Given the description of an element on the screen output the (x, y) to click on. 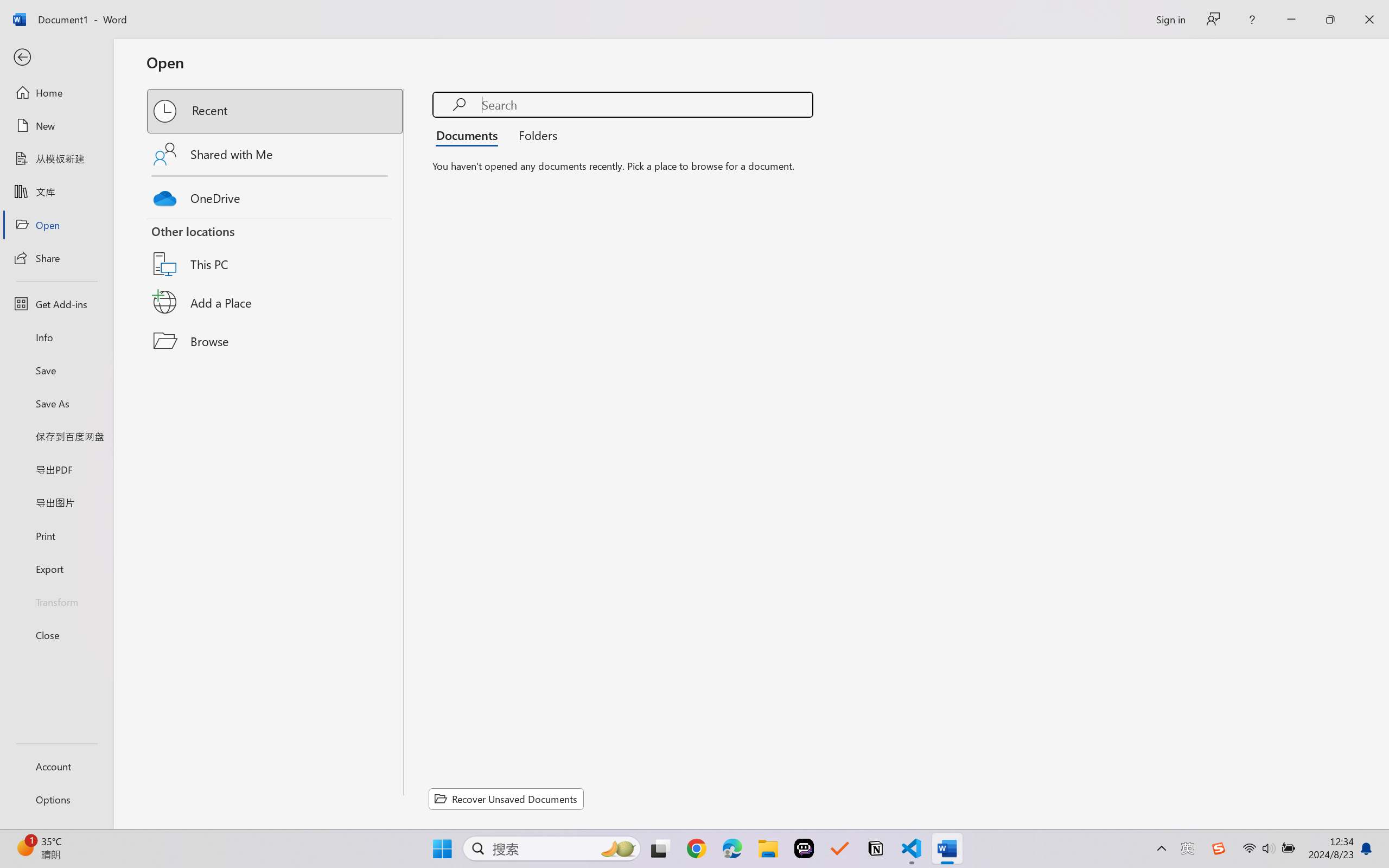
Info (56, 337)
Print (56, 535)
Export (56, 568)
Back (56, 57)
Options (56, 798)
Browse (275, 340)
Folders (534, 134)
Recover Unsaved Documents (506, 798)
Save As (56, 403)
